Given the description of an element on the screen output the (x, y) to click on. 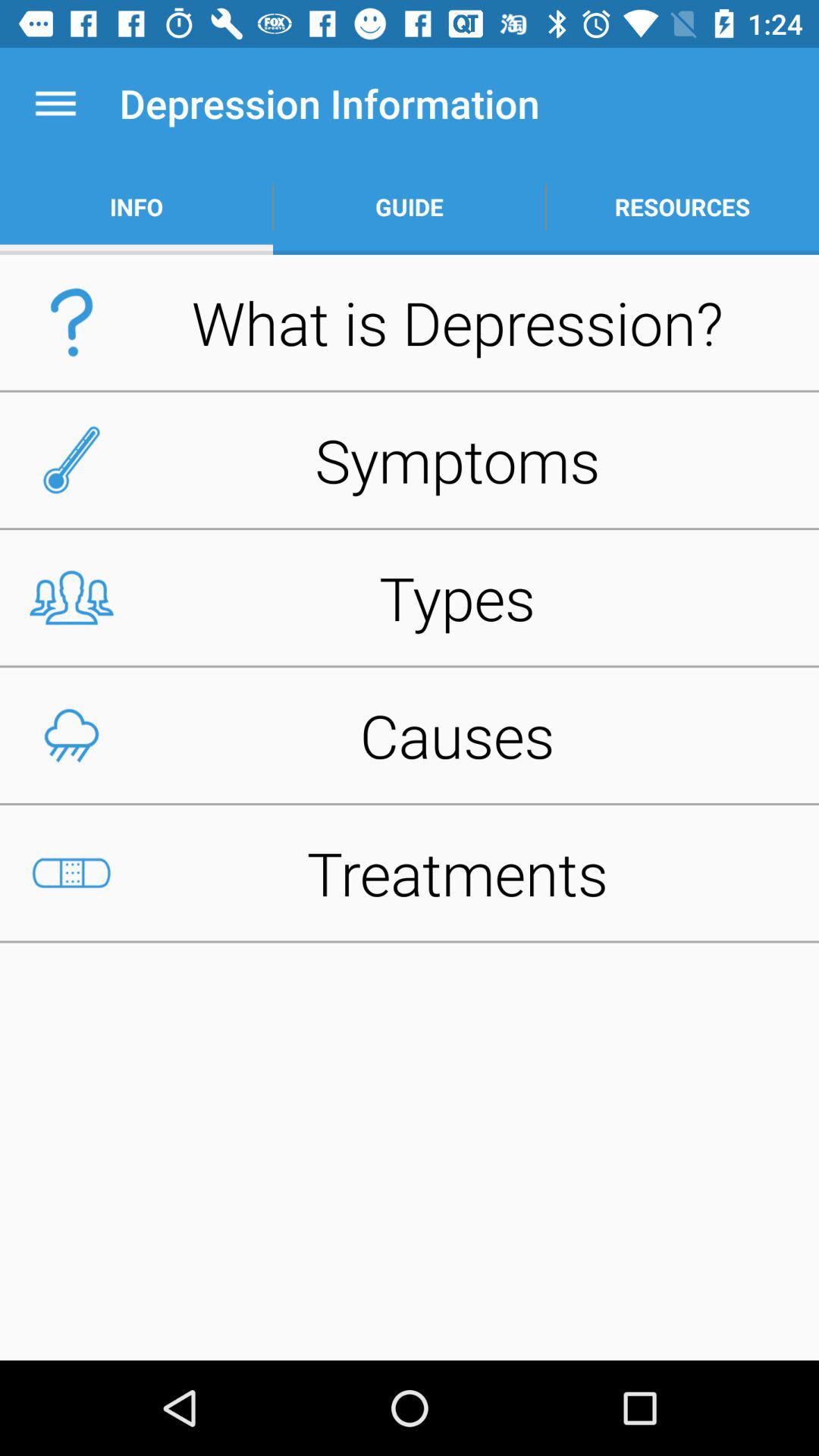
tap symptoms (409, 459)
